Given the description of an element on the screen output the (x, y) to click on. 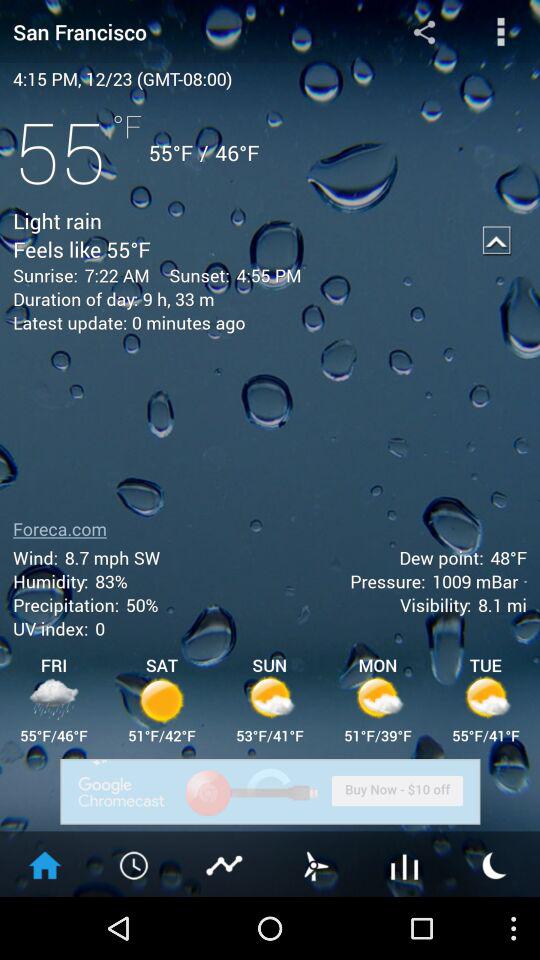
go home (45, 864)
